Given the description of an element on the screen output the (x, y) to click on. 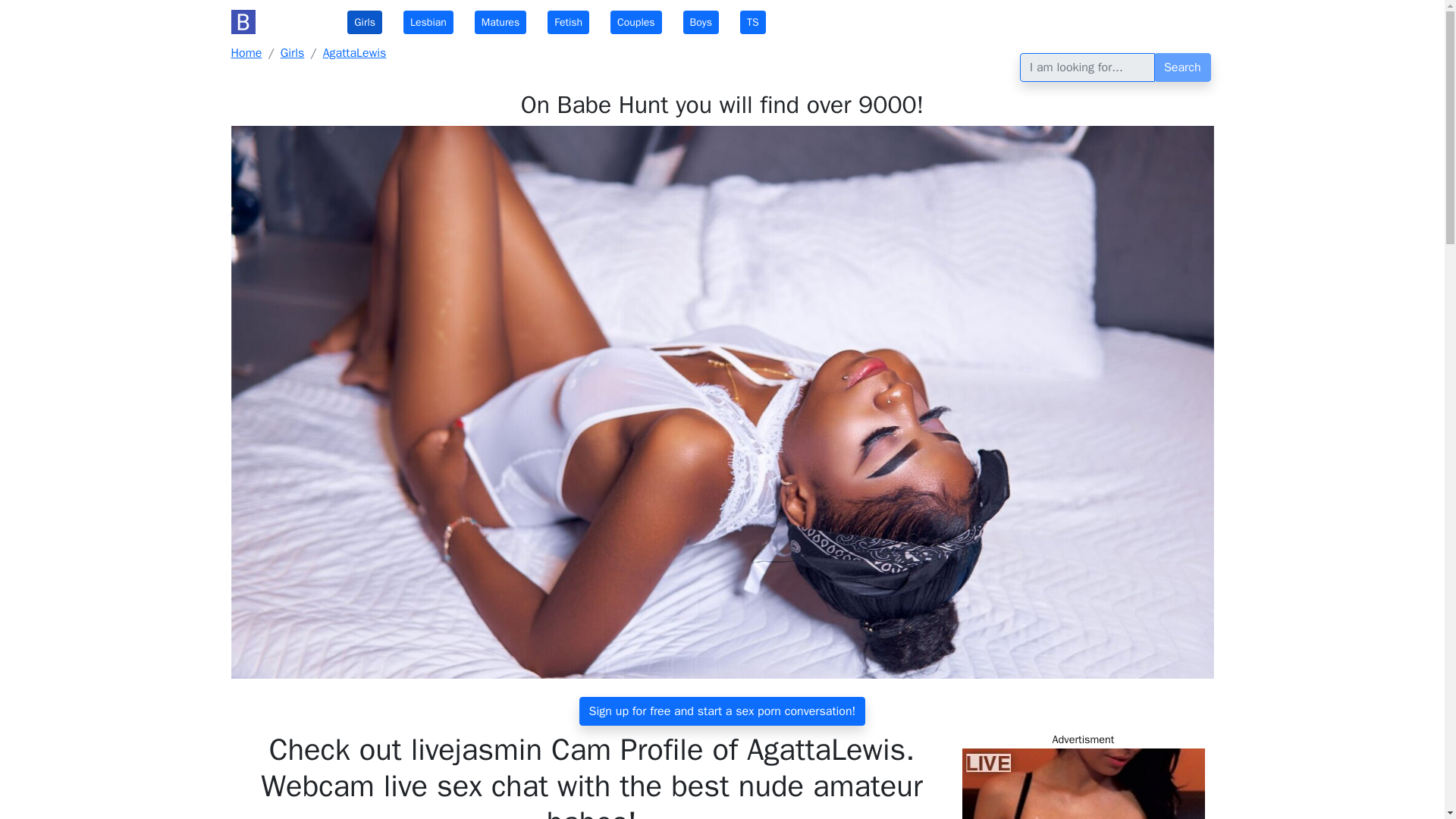
Search (1182, 67)
Babe Hunt (277, 21)
Matures (499, 22)
Couples (635, 22)
Girls (292, 52)
Fetish (568, 22)
Lesbian (427, 22)
Boys (700, 22)
Babe Hunt (277, 21)
AgattaLewis (355, 52)
